Given the description of an element on the screen output the (x, y) to click on. 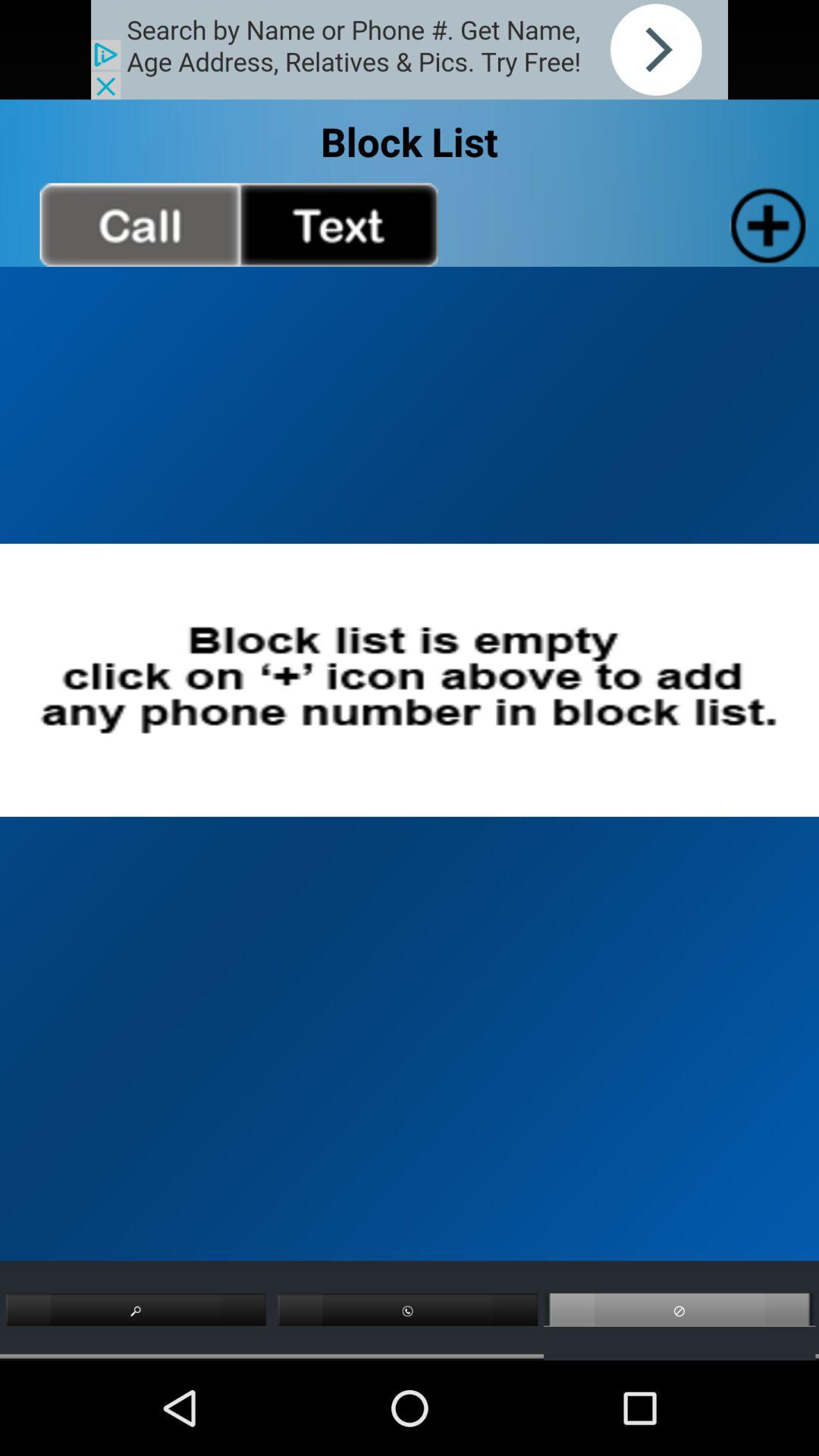
add archive (765, 224)
